Given the description of an element on the screen output the (x, y) to click on. 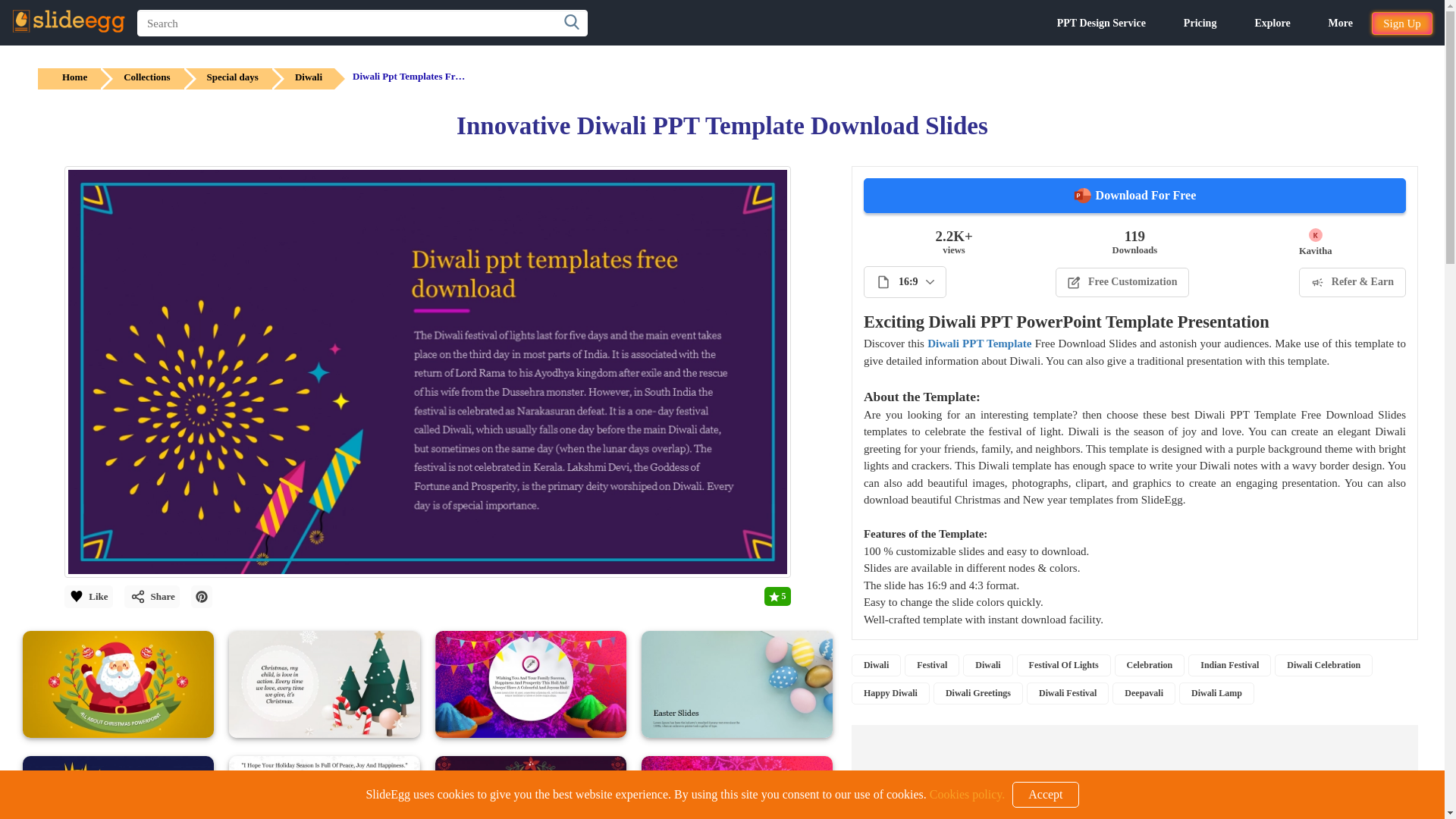
SlideEgg (68, 21)
Pricing (1200, 22)
PPT Design Service (1101, 22)
Explore (1271, 22)
Advertisement (1134, 771)
